Given the description of an element on the screen output the (x, y) to click on. 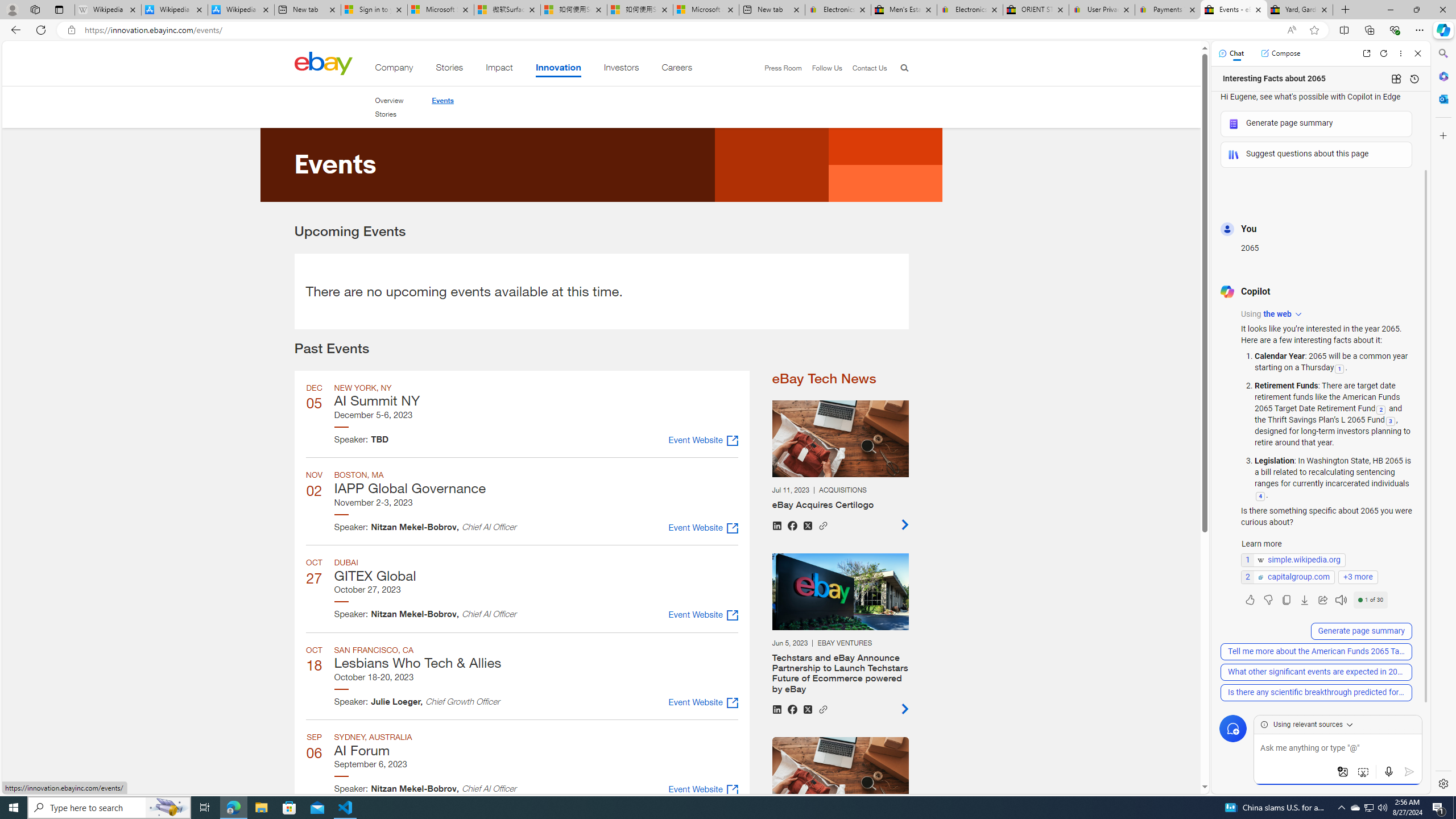
Careers (677, 69)
Follow Us (821, 68)
Company (393, 69)
Impact (499, 69)
Follow Us (826, 67)
User Privacy Notice | eBay (1102, 9)
Events (442, 100)
Share on LinkedIn (776, 709)
